Given the description of an element on the screen output the (x, y) to click on. 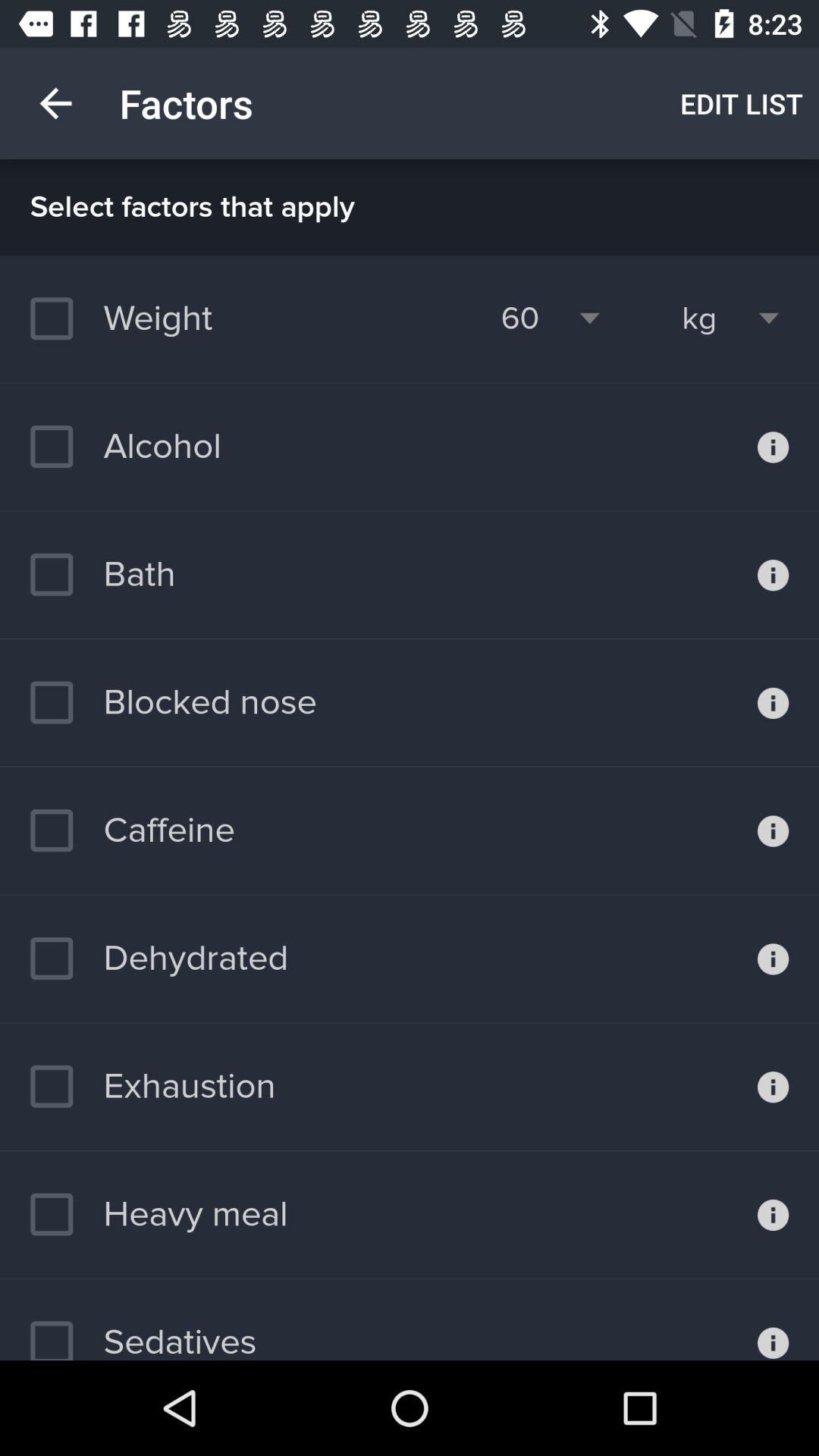
scroll until blocked nose (173, 702)
